Given the description of an element on the screen output the (x, y) to click on. 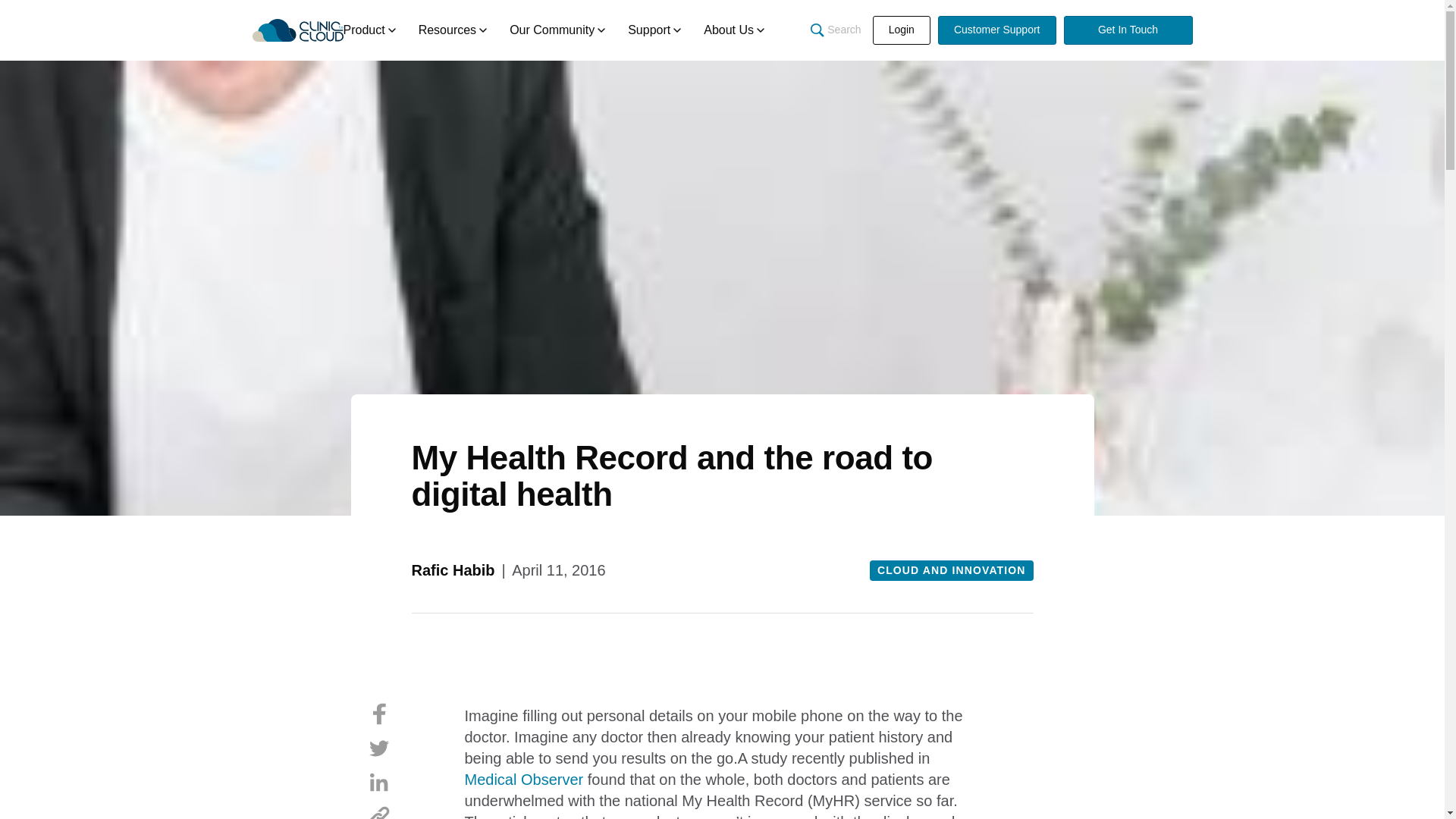
Support (654, 30)
Rafic Habib (452, 569)
Product (369, 30)
Search (835, 30)
Medical Observer (523, 779)
Get In Touch (1127, 30)
Our Community (556, 30)
Customer Support (997, 30)
About Us (734, 30)
Login (901, 30)
Resources (452, 30)
CLOUD AND INNOVATION (951, 570)
